Given the description of an element on the screen output the (x, y) to click on. 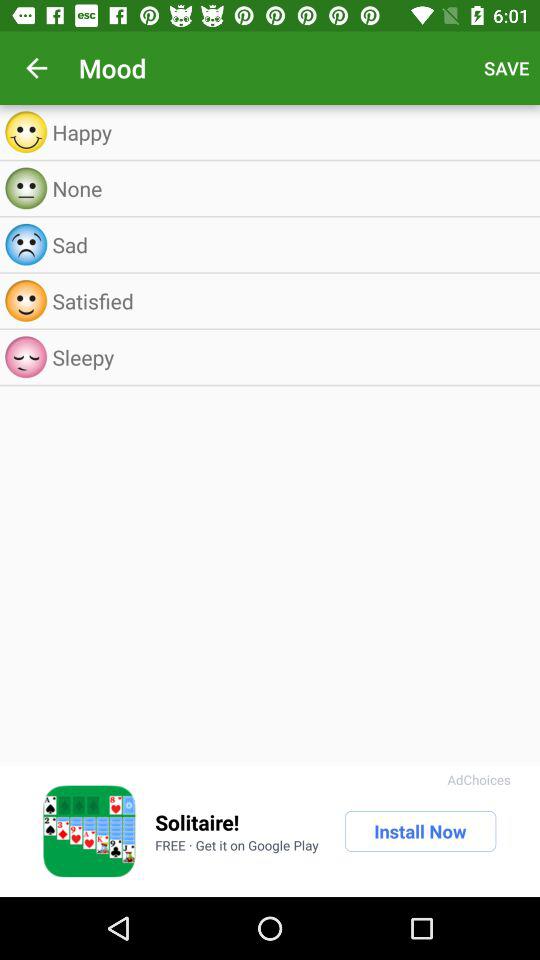
click the app to the left of the install now (236, 845)
